Given the description of an element on the screen output the (x, y) to click on. 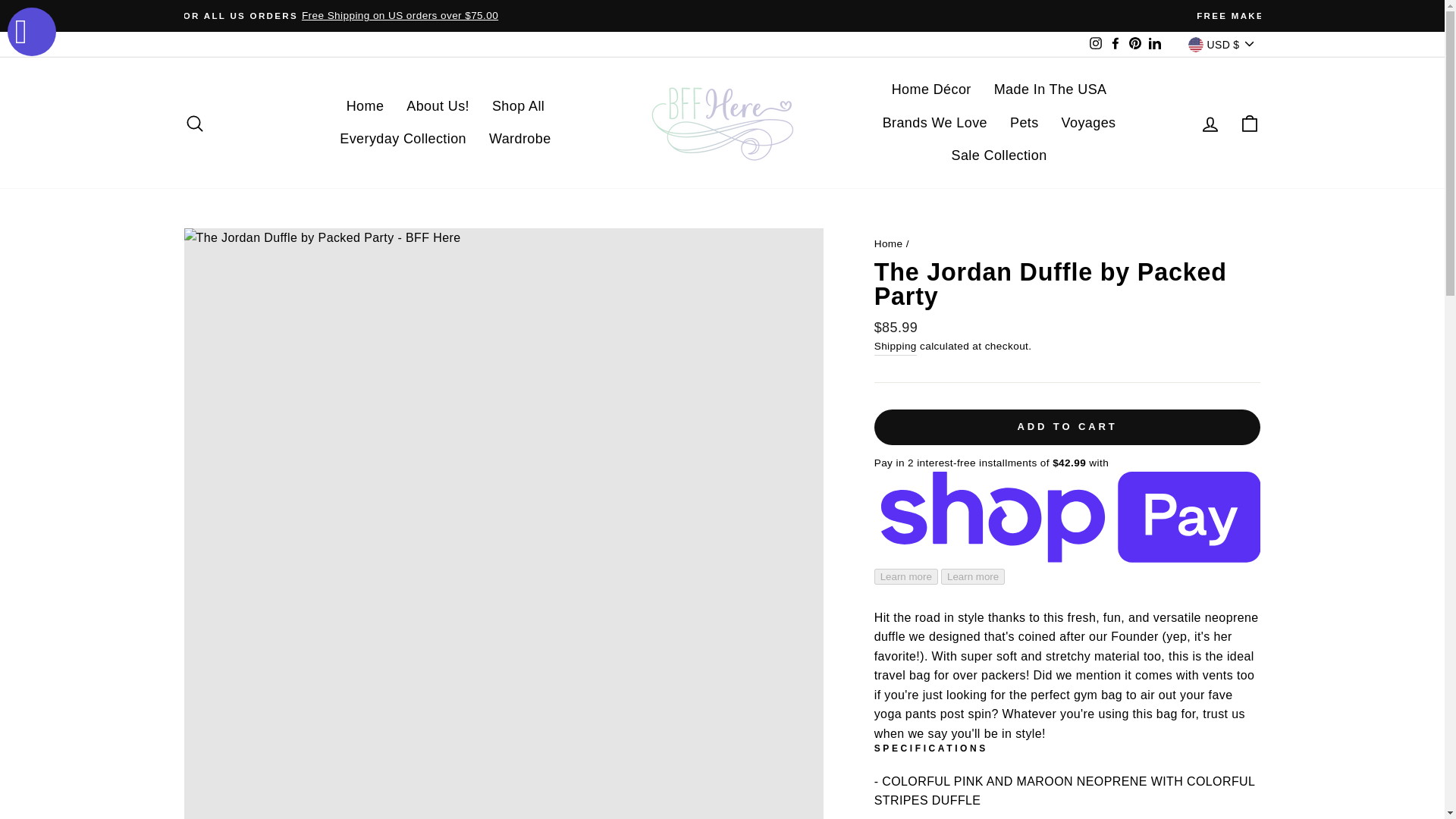
Back to the frontpage (888, 243)
BFF Here on Pinterest (1134, 44)
BFF Here on LinkedIn (1154, 44)
BFF Here on Facebook (1115, 44)
BFF Here on Instagram (1095, 44)
